Given the description of an element on the screen output the (x, y) to click on. 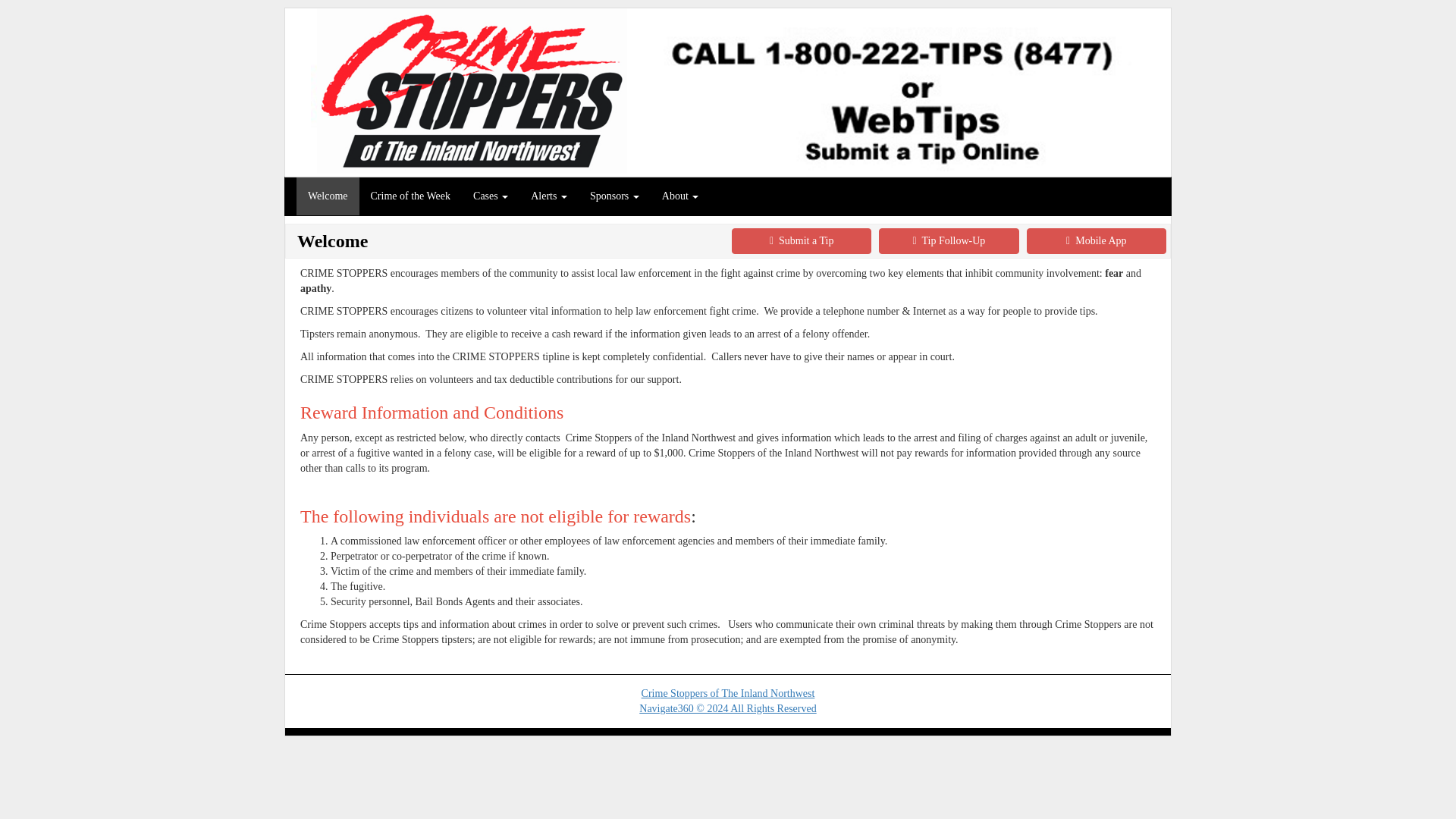
 Tip Follow-Up (948, 240)
 Mobile App (1096, 240)
Cases (490, 196)
Sponsors (614, 196)
 Submit a Tip (801, 240)
Crime Stoppers of The Inland Northwest (728, 693)
Alerts (548, 196)
Welcome (328, 196)
Crime of the Week (411, 196)
About (680, 196)
